Given the description of an element on the screen output the (x, y) to click on. 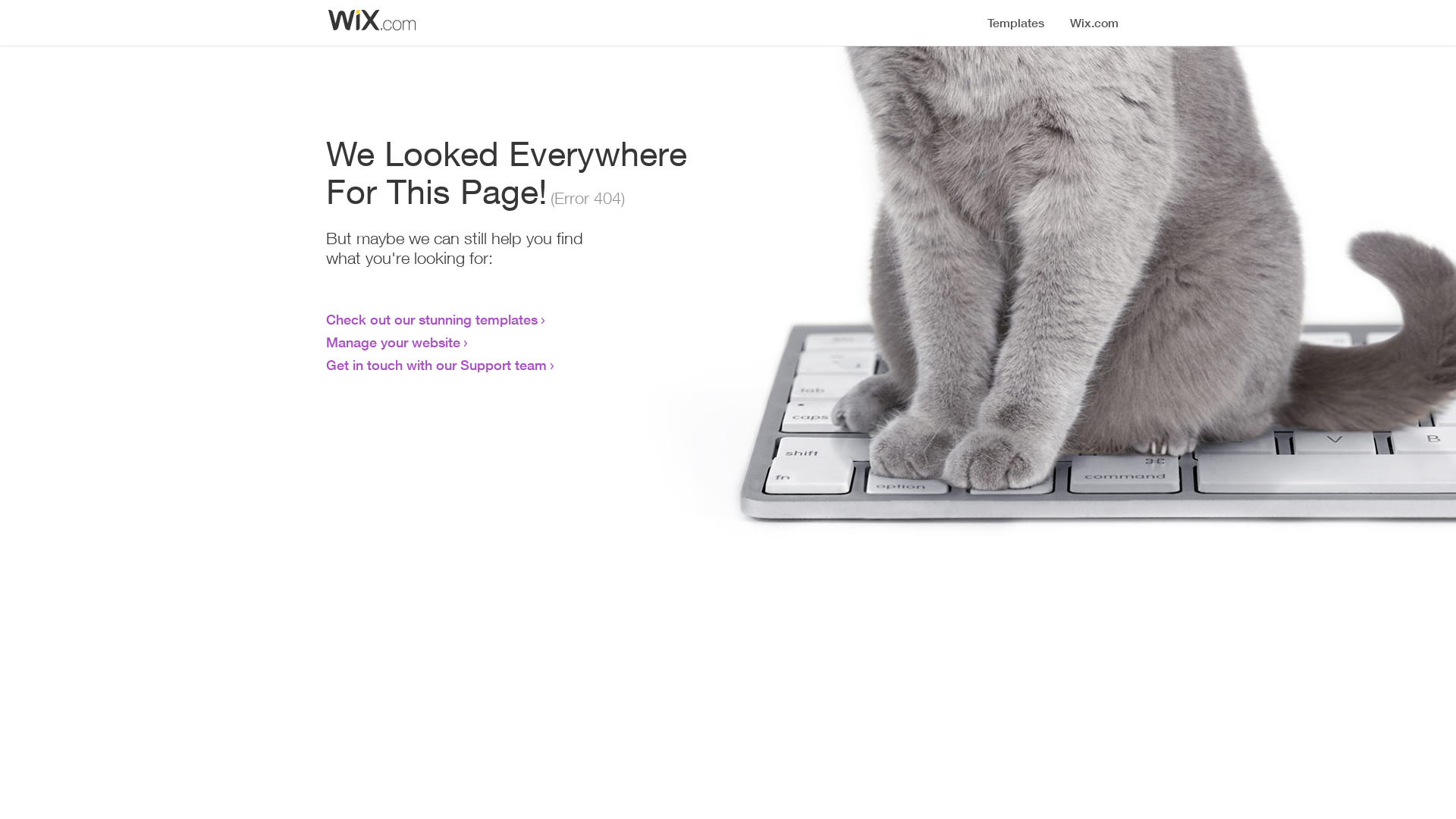
Check out our stunning templates Element type: text (431, 318)
Get in touch with our Support team Element type: text (436, 364)
Manage your website Element type: text (393, 341)
